Given the description of an element on the screen output the (x, y) to click on. 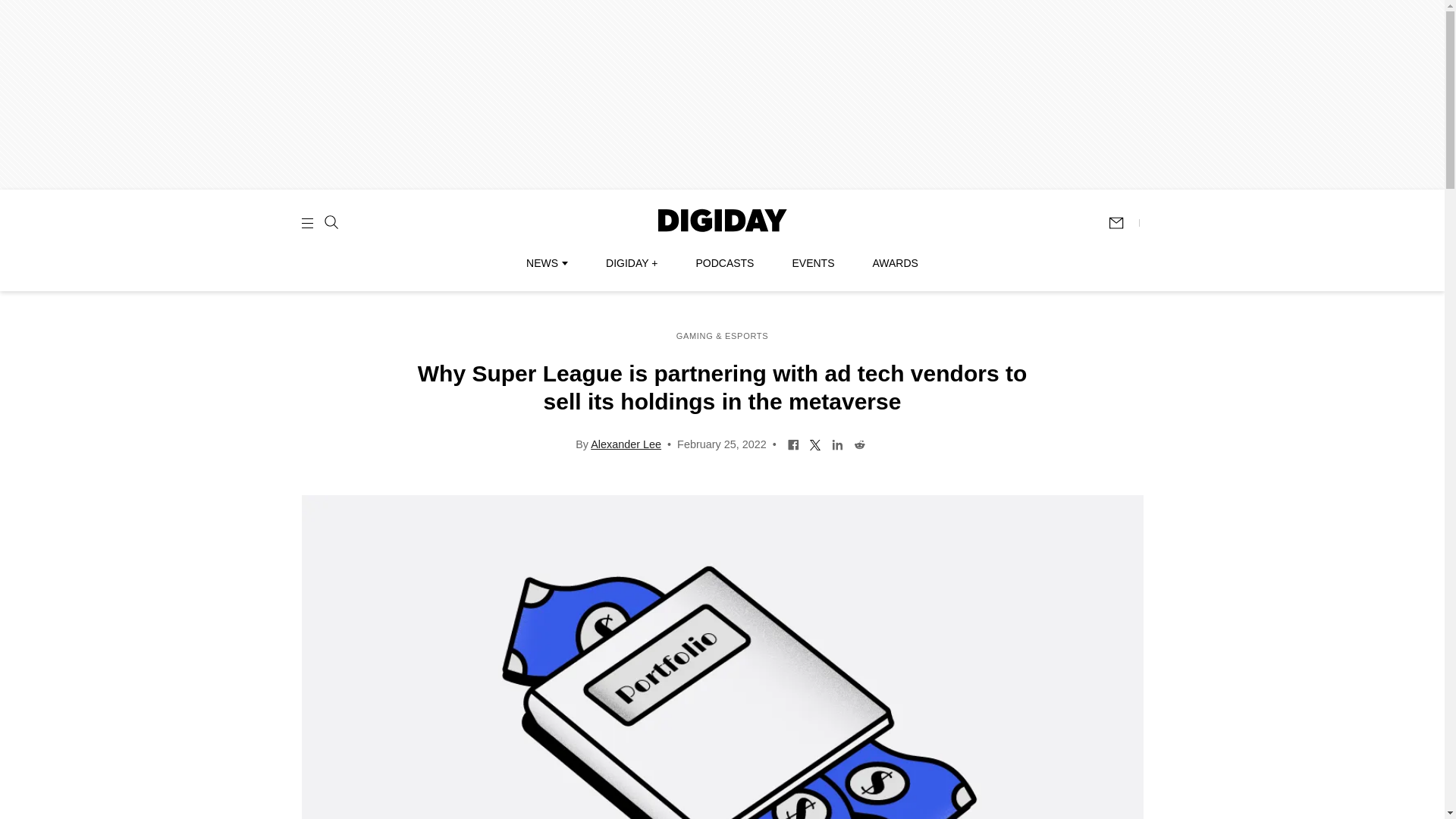
Share on LinkedIn (837, 443)
PODCASTS (725, 262)
Share on Reddit (859, 443)
Share on Facebook (793, 443)
Share on Twitter (815, 443)
EVENTS (813, 262)
NEWS (546, 262)
Subscribe (1123, 223)
AWARDS (894, 262)
